Given the description of an element on the screen output the (x, y) to click on. 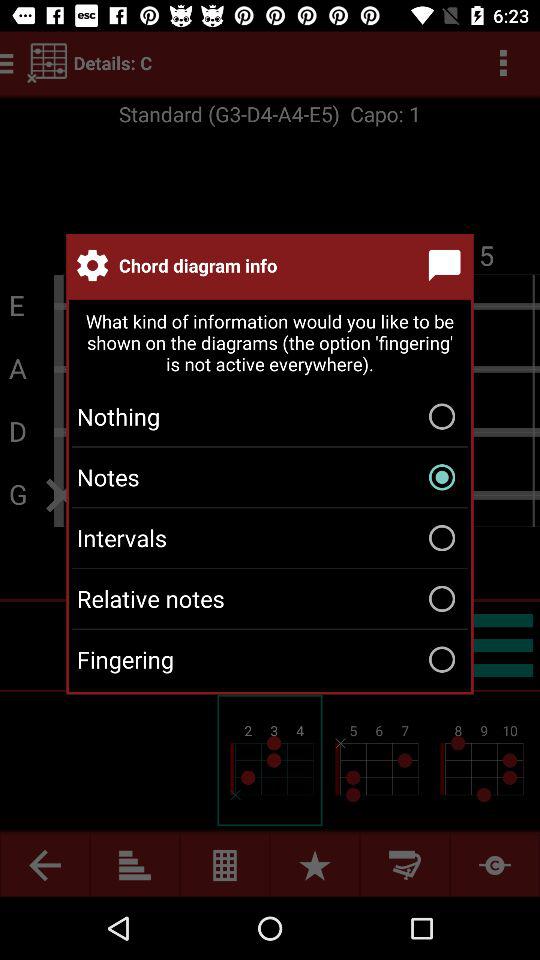
jump to nothing (269, 416)
